Given the description of an element on the screen output the (x, y) to click on. 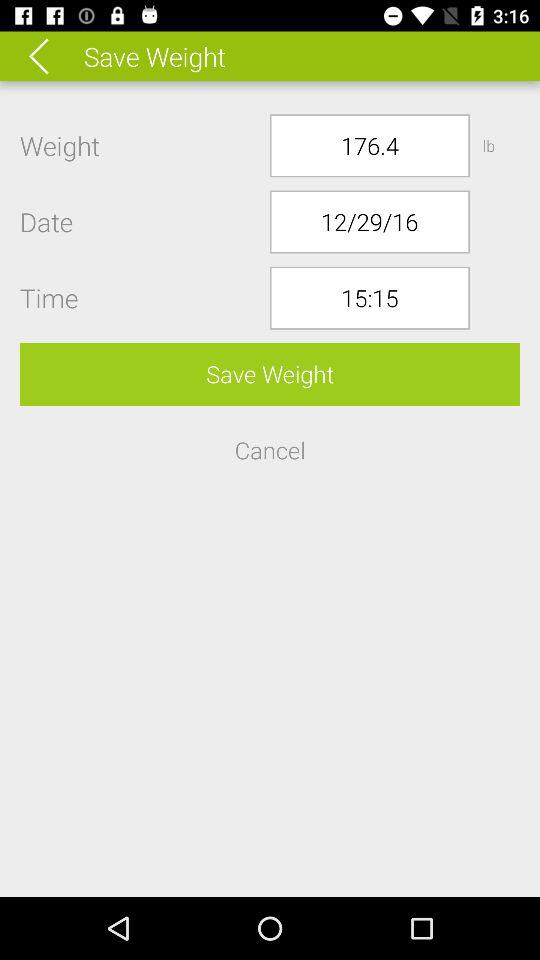
choose the icon above the weight icon (52, 56)
